Given the description of an element on the screen output the (x, y) to click on. 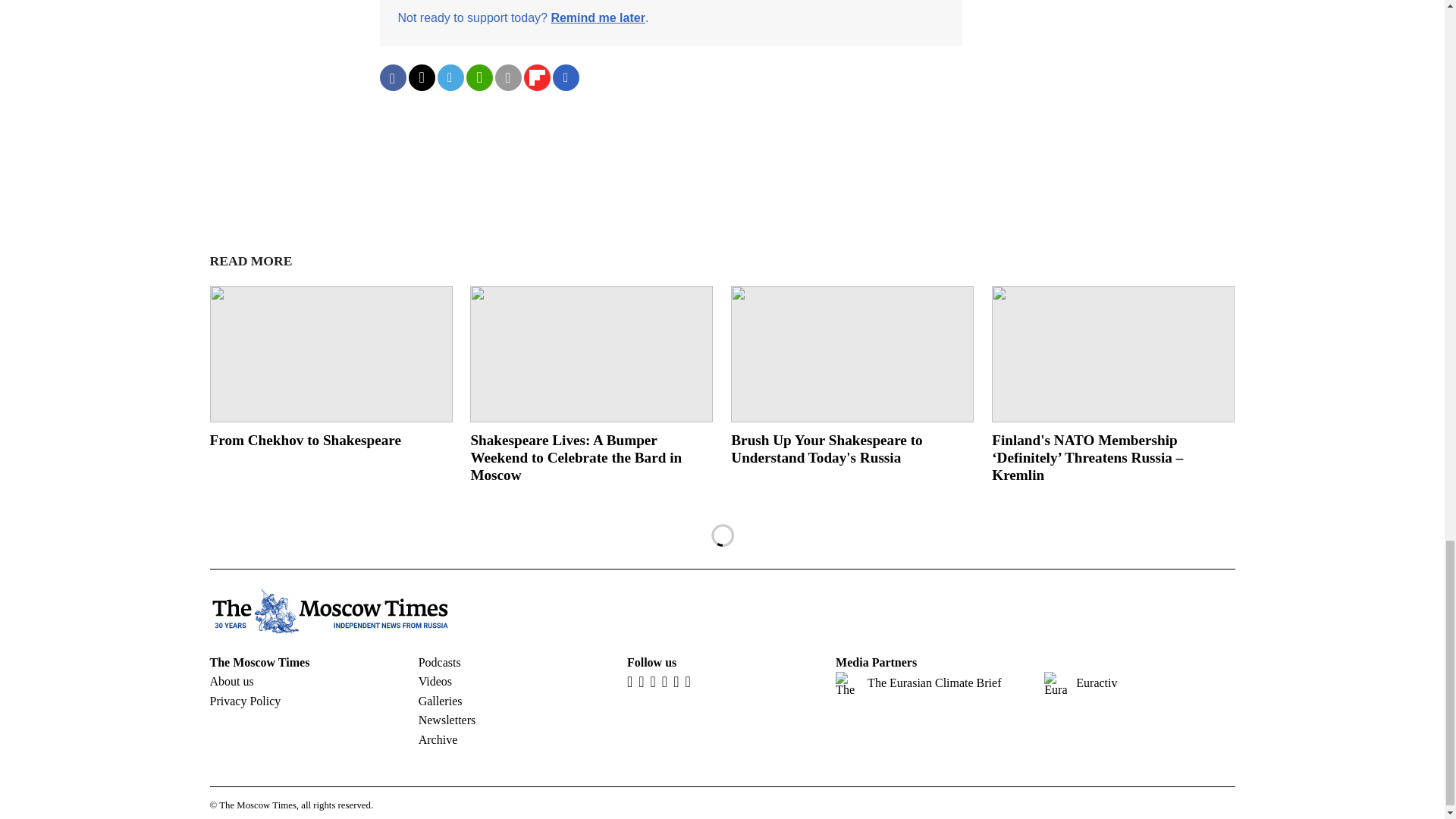
Share on Telegram (449, 77)
Share on Flipboard (536, 77)
Share on Twitter (420, 77)
Share on Facebook (392, 77)
